Given the description of an element on the screen output the (x, y) to click on. 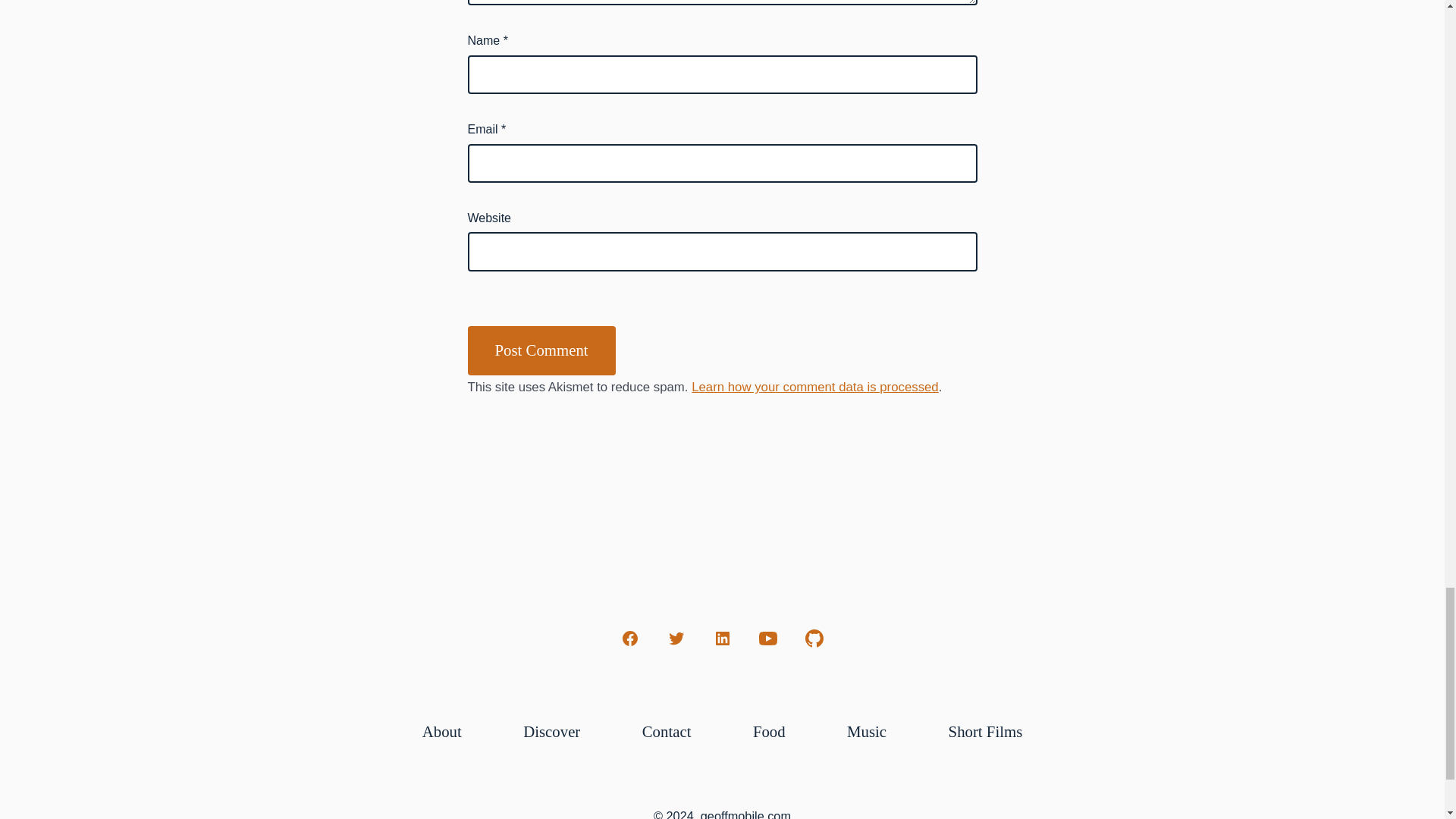
Post Comment (540, 350)
